Given the description of an element on the screen output the (x, y) to click on. 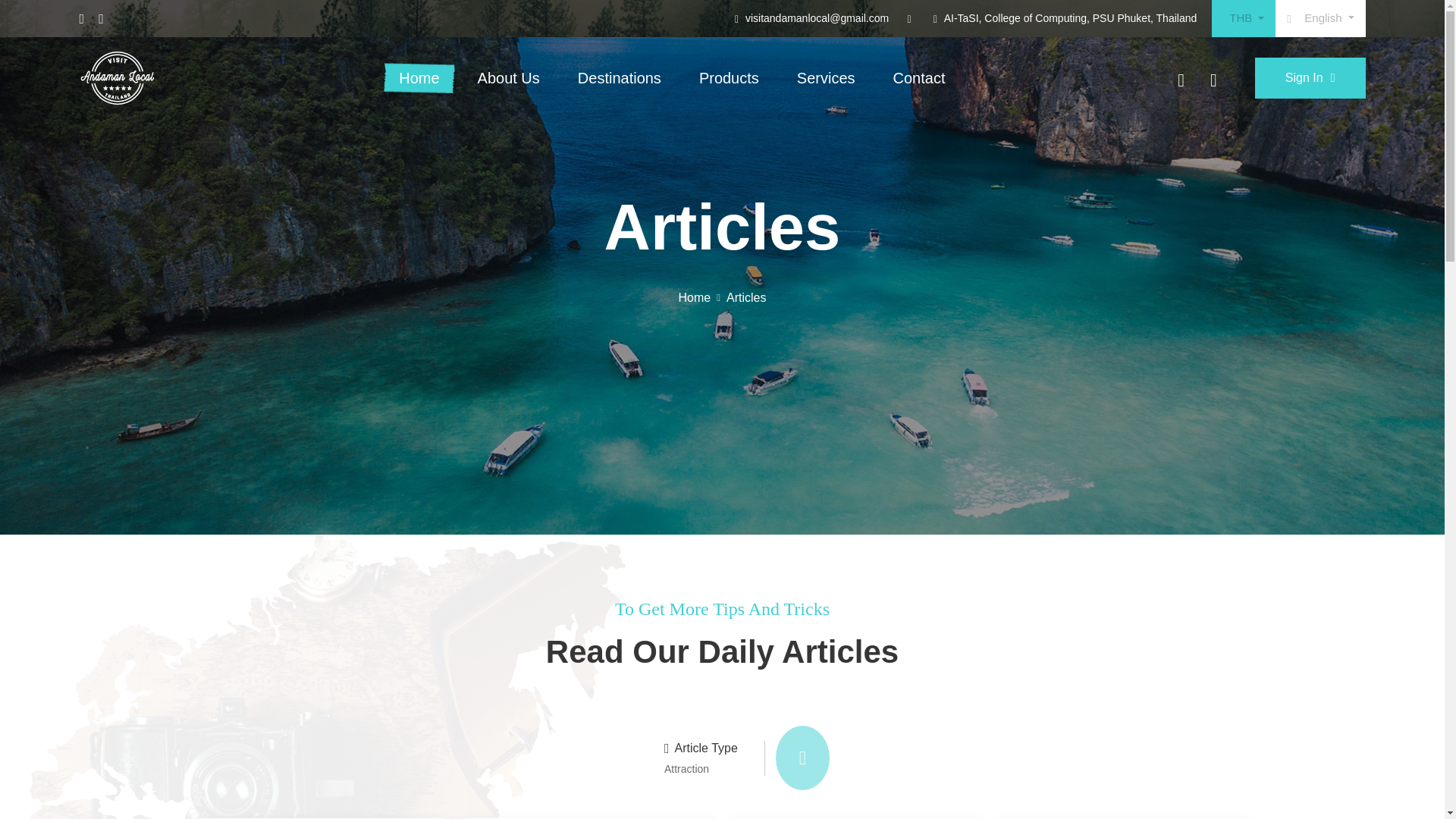
  THB (1243, 18)
  English (1320, 18)
